Given the description of an element on the screen output the (x, y) to click on. 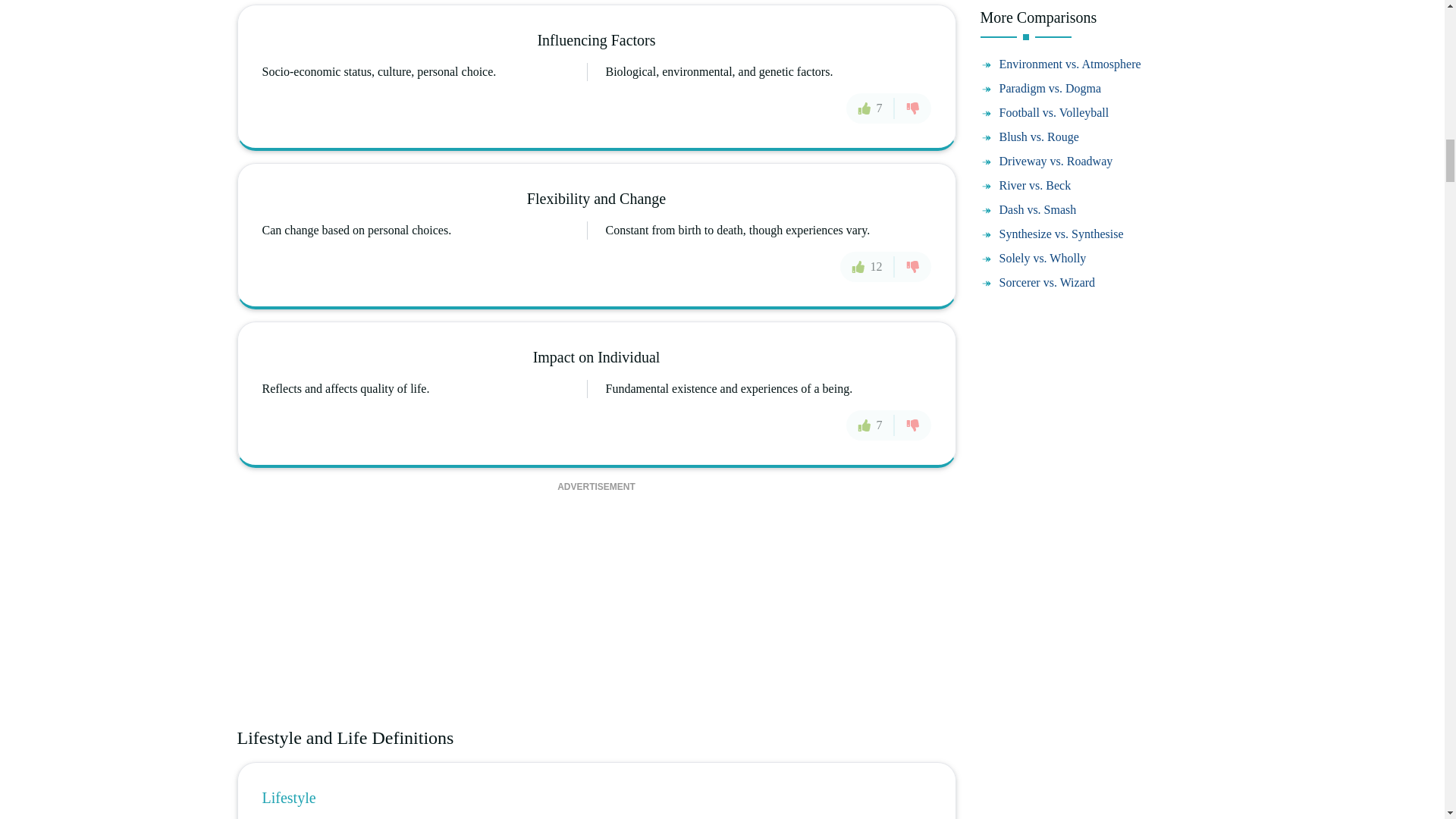
7 (870, 107)
12 (867, 266)
7 (870, 424)
